Given the description of an element on the screen output the (x, y) to click on. 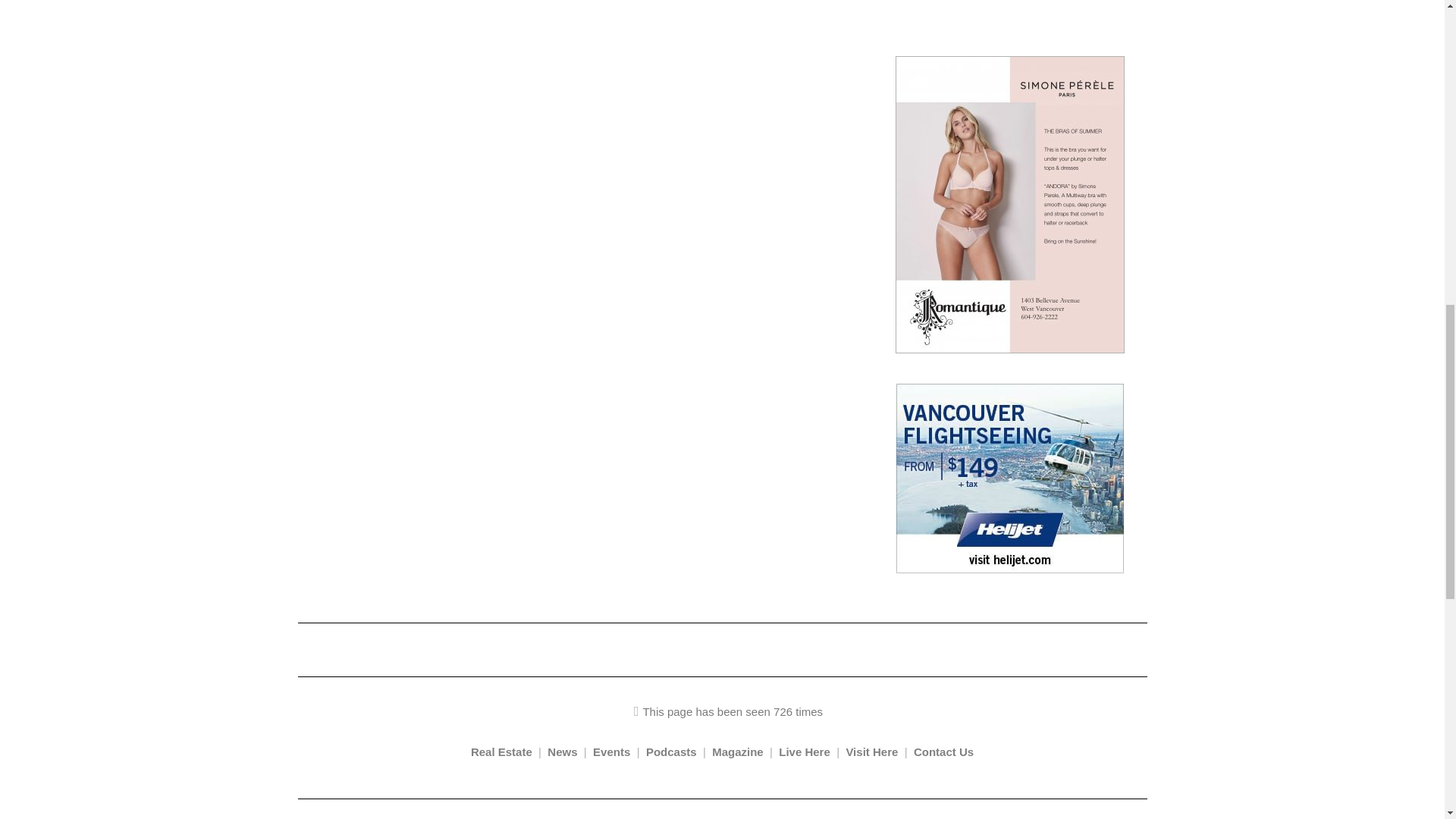
Advertisement (1005, 20)
